Given the description of an element on the screen output the (x, y) to click on. 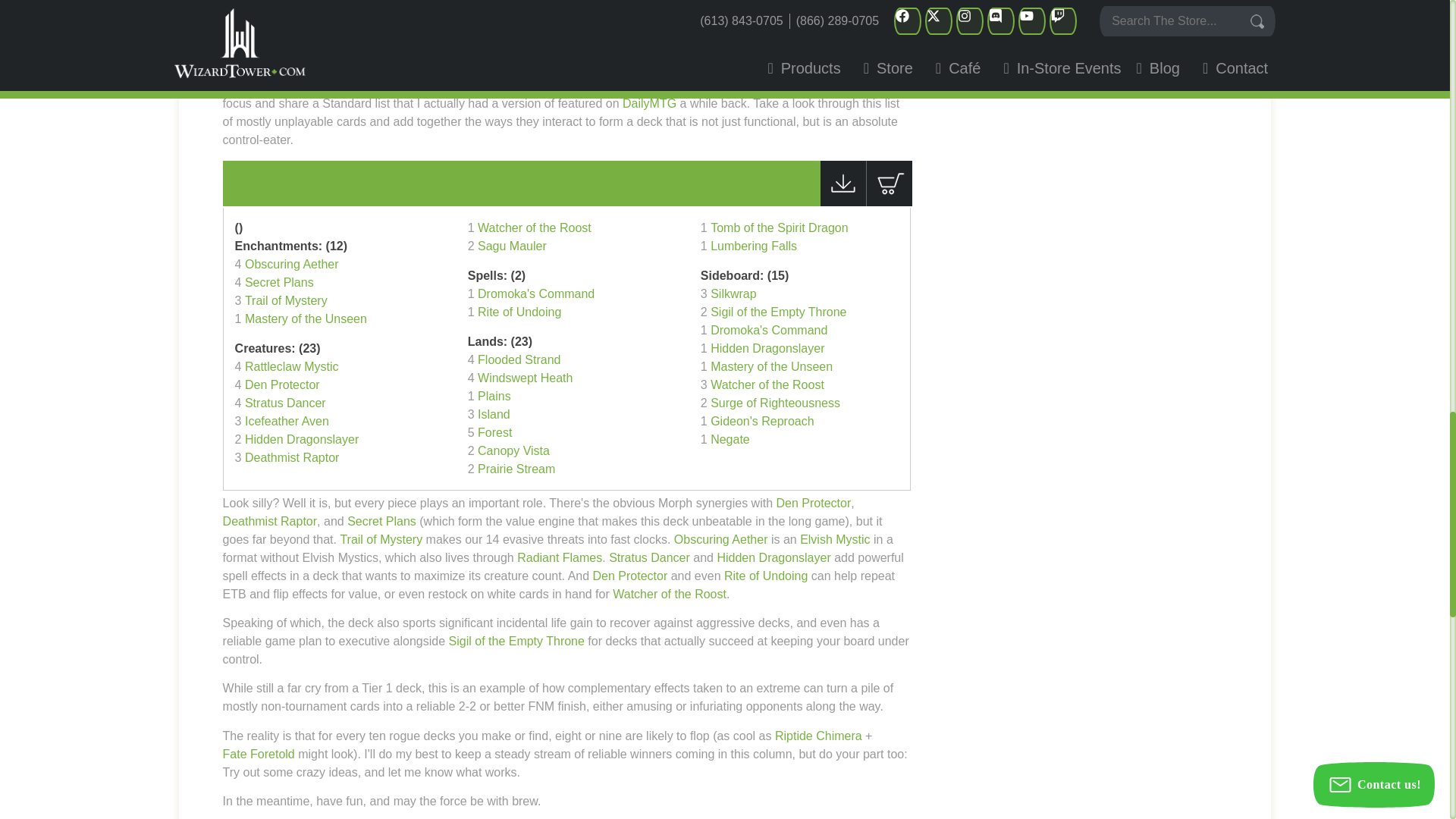
Purchase Cards (889, 201)
Download Text File (843, 201)
